Given the description of an element on the screen output the (x, y) to click on. 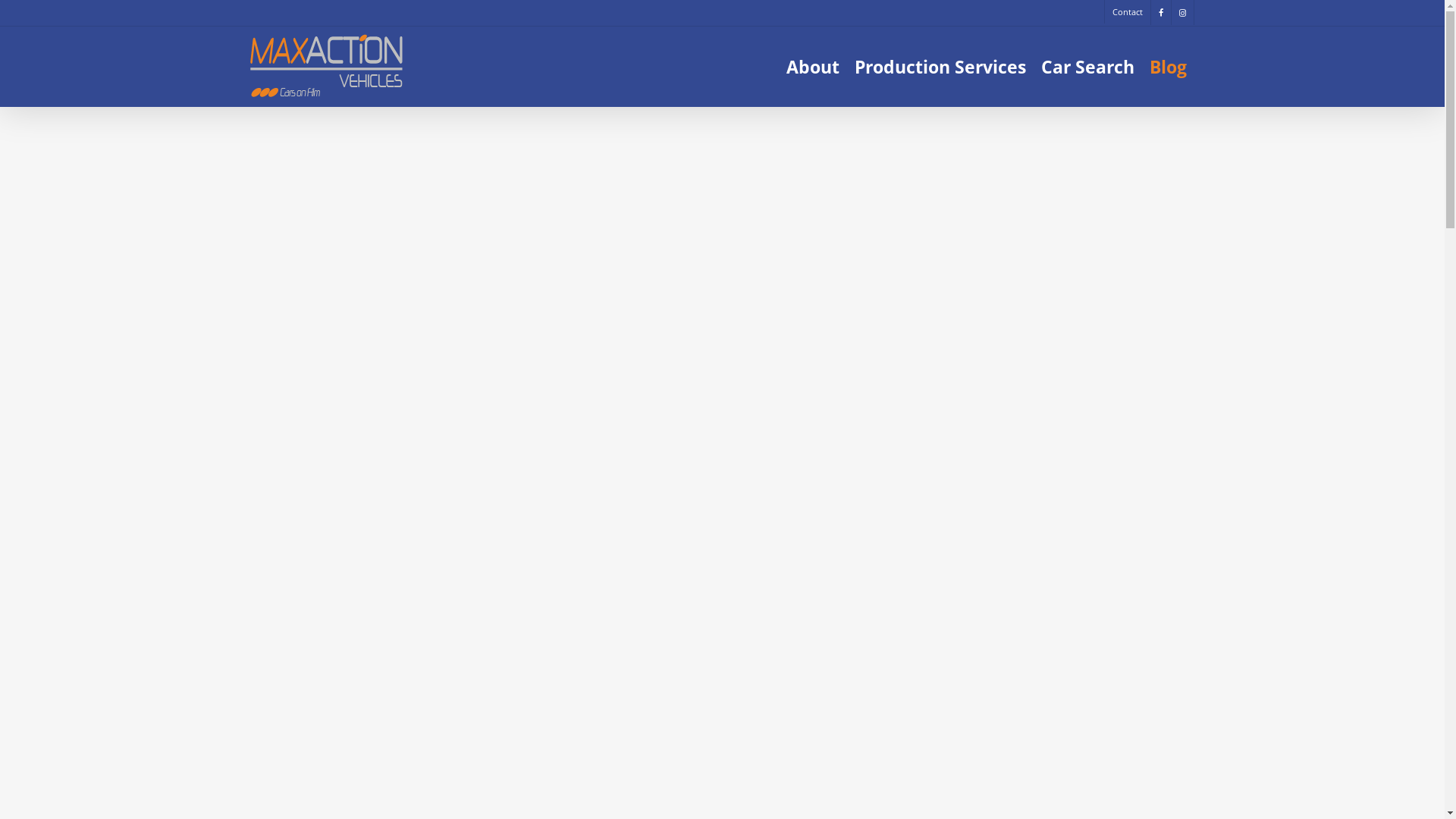
About Element type: text (812, 66)
Production Services Element type: text (940, 66)
Contact Element type: text (1127, 11)
Car Search Element type: text (1087, 66)
Blog Element type: text (1168, 66)
